Given the description of an element on the screen output the (x, y) to click on. 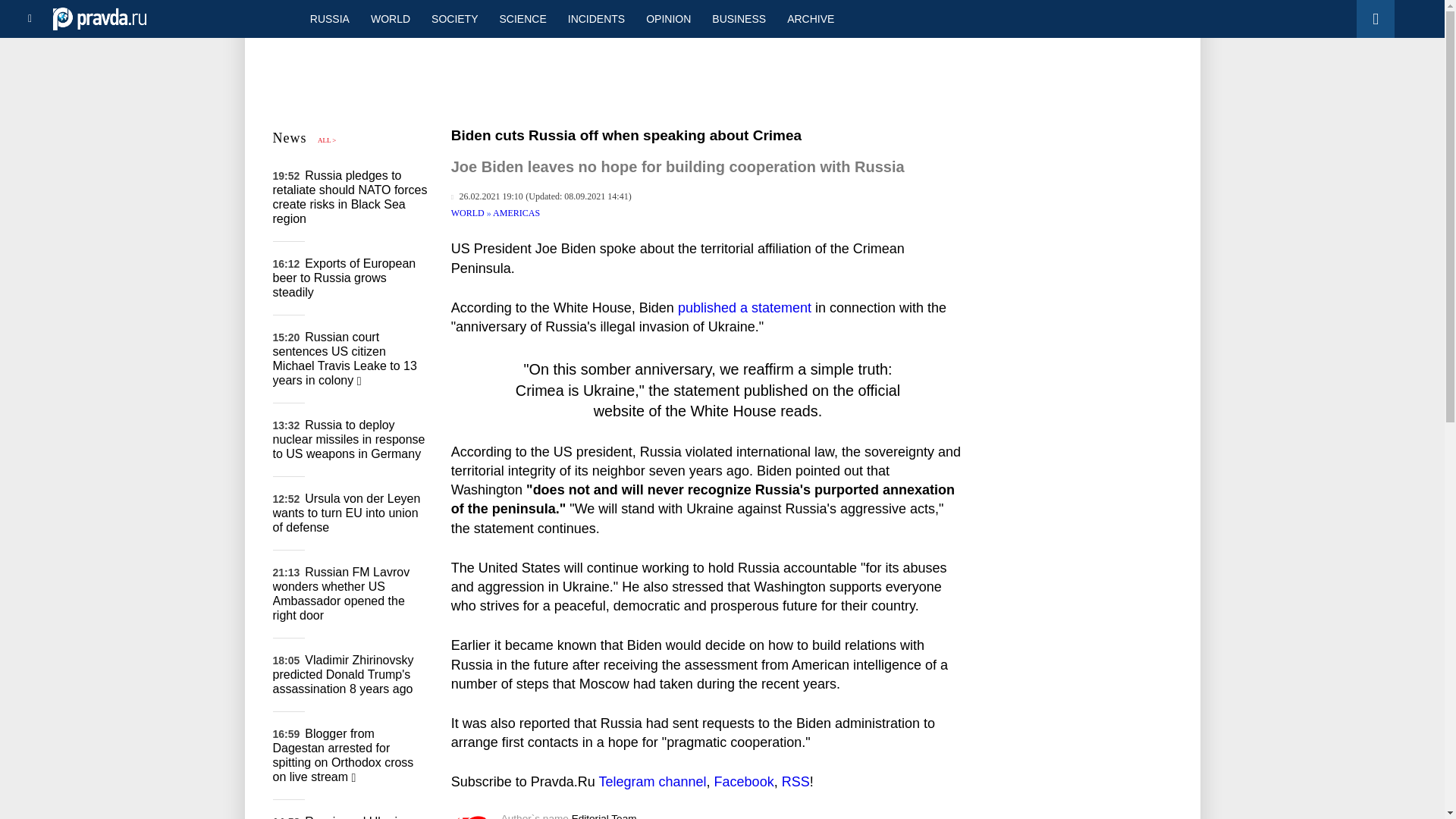
RSS (795, 781)
Published (486, 196)
WORLD (389, 18)
BUSINESS (738, 18)
RUSSIA (329, 18)
Exports of European beer to Russia grows steadily (344, 277)
News (290, 137)
Russia and Ukraine exchange 95 prisoners of war (341, 816)
Ursula von der Leyen wants to turn EU into union of defense (346, 512)
WORLD (468, 213)
